Given the description of an element on the screen output the (x, y) to click on. 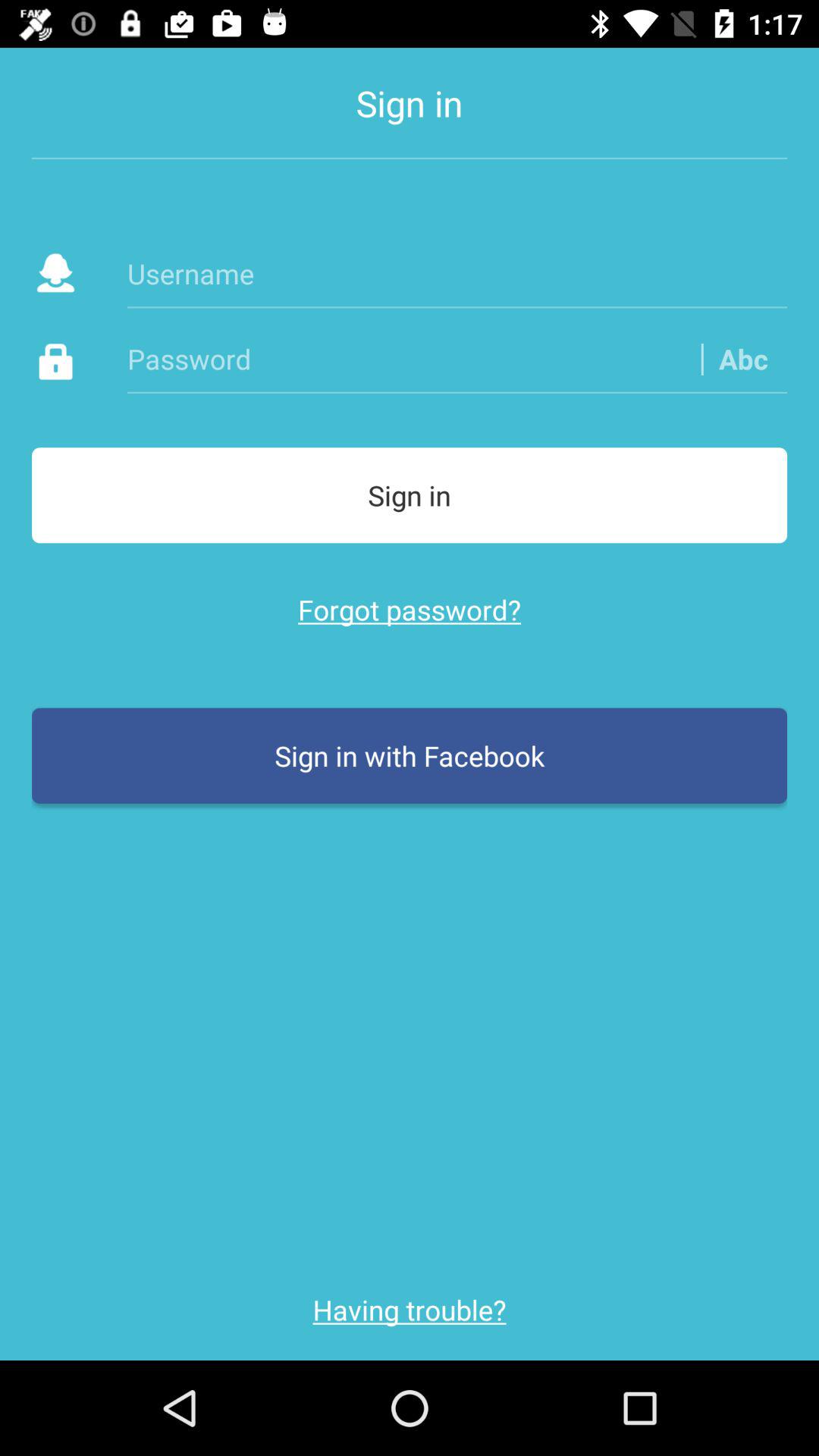
click the icon above sign in with item (409, 609)
